Given the description of an element on the screen output the (x, y) to click on. 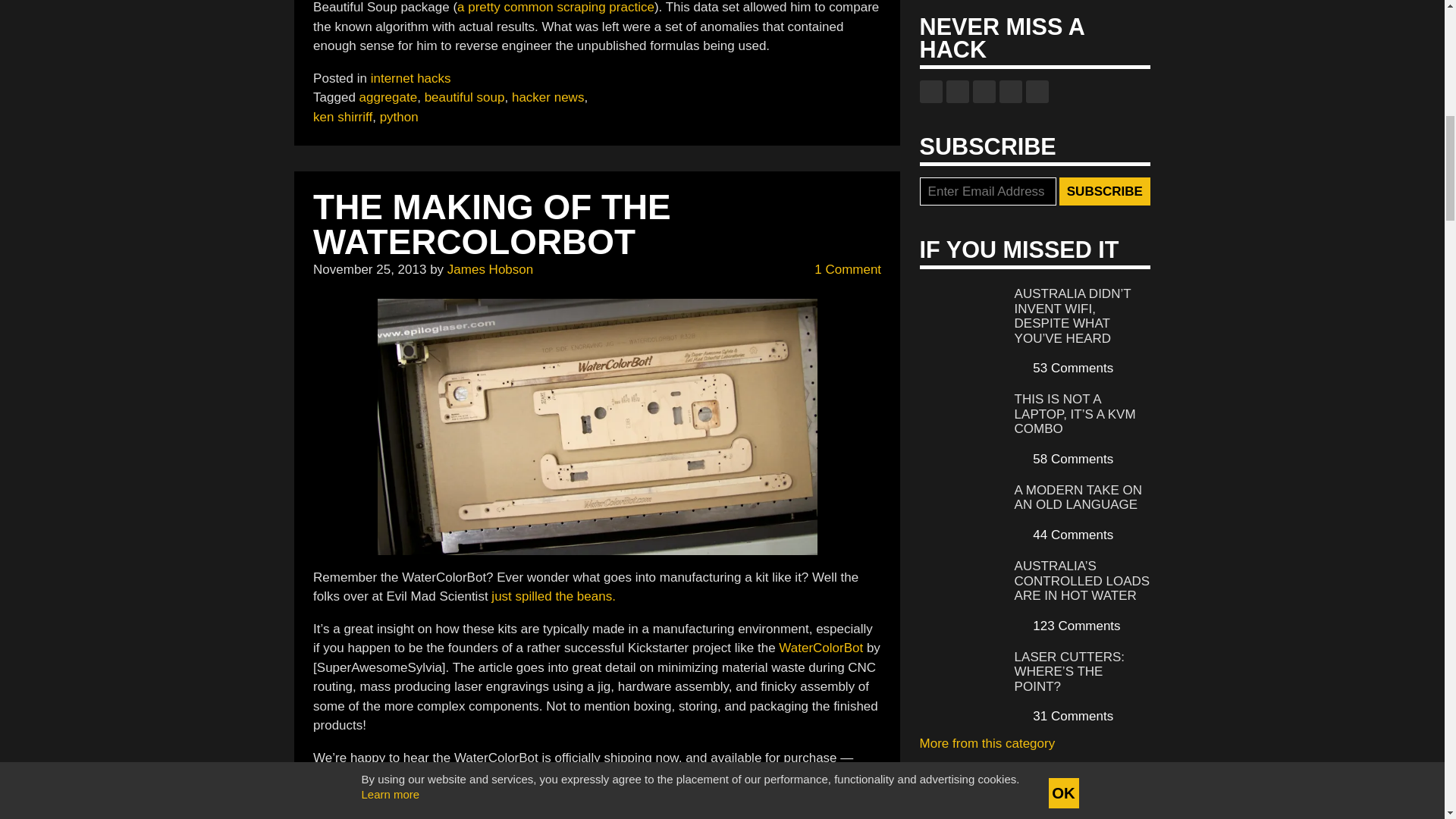
aggregate (388, 97)
python (399, 115)
November 25, 2013 - 7:01 pm (369, 269)
internet hacks (411, 78)
1 Comment (839, 270)
Posts by James Hobson (489, 269)
beautiful soup (465, 97)
THE MAKING OF THE WATERCOLORBOT (492, 224)
ken shirriff (342, 115)
Subscribe (1104, 191)
